Given the description of an element on the screen output the (x, y) to click on. 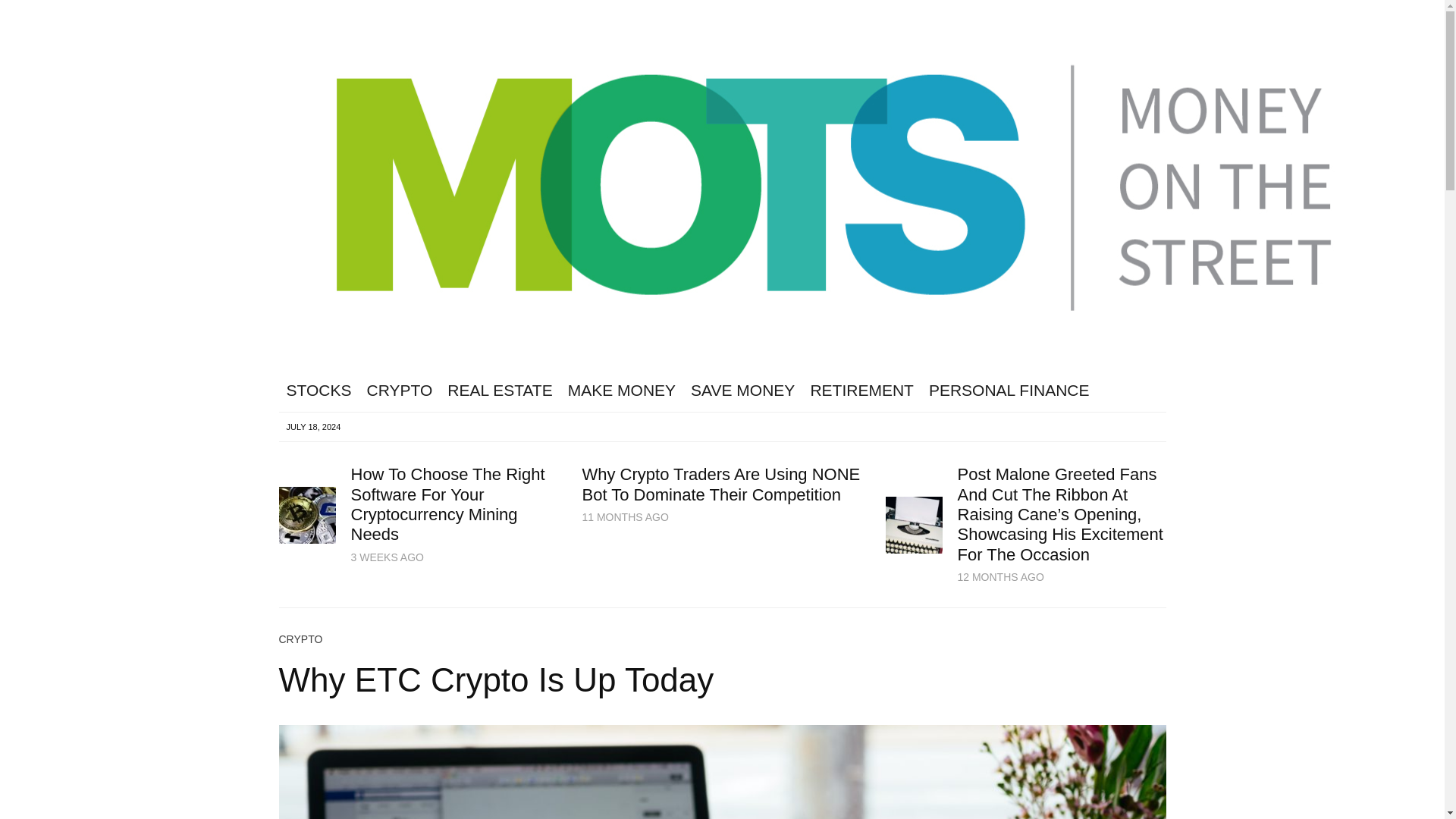
MAKE MONEY (621, 390)
STOCKS (319, 390)
CRYPTO (398, 390)
REAL ESTATE (499, 390)
